Given the description of an element on the screen output the (x, y) to click on. 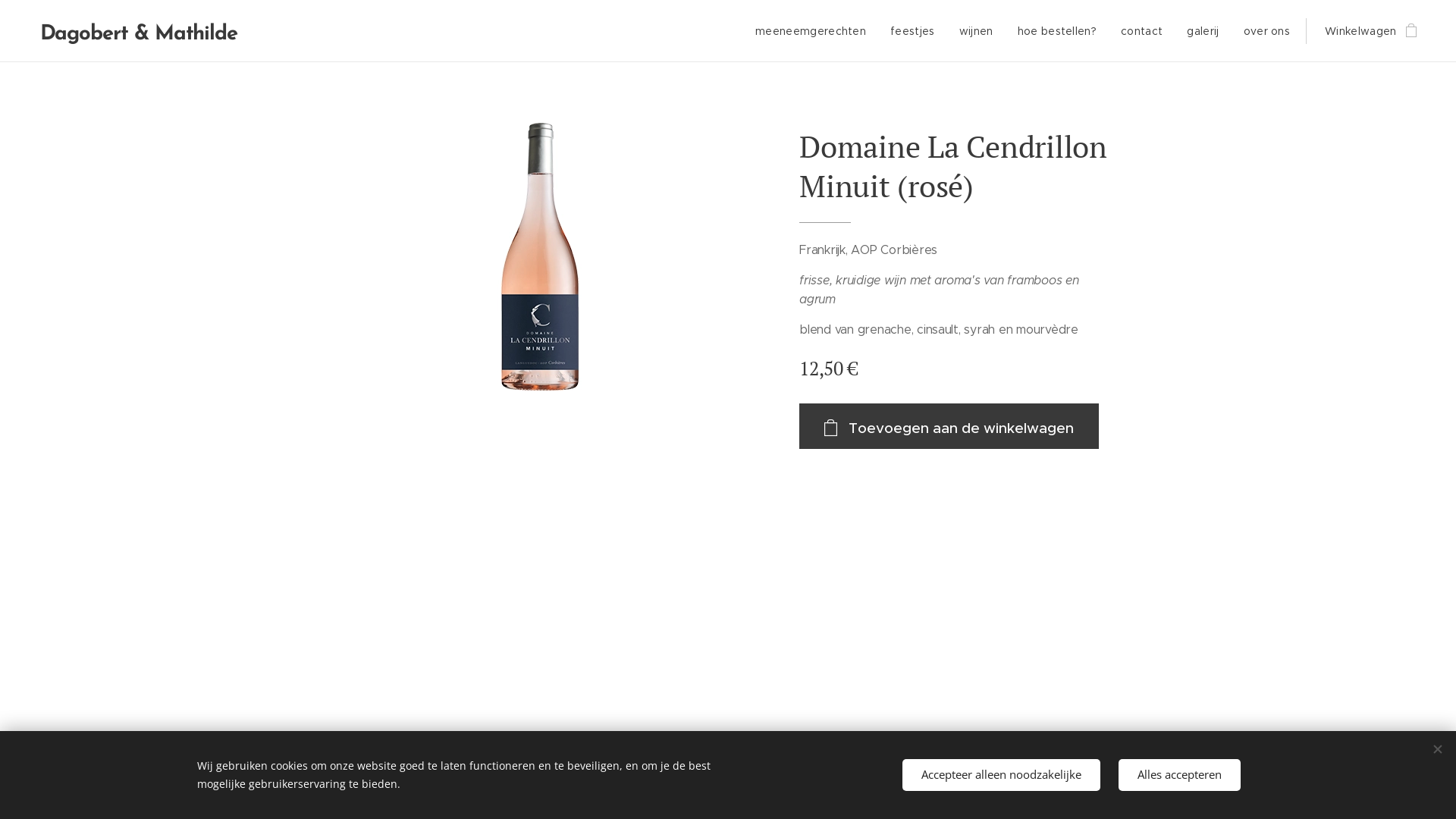
wijnen Element type: text (976, 31)
galerij Element type: text (1202, 31)
Accepteer alleen noodzakelijke Element type: text (1001, 774)
Cookies Element type: text (727, 786)
Winkelwagen Element type: text (1365, 31)
contact Element type: text (1141, 31)
Dagobert & Mathilde   Element type: text (144, 30)
over ons Element type: text (1266, 31)
meeneemgerechten Element type: text (814, 31)
Toevoegen aan de winkelwagen Element type: text (948, 425)
hoe bestellen? Element type: text (1056, 31)
feestjes Element type: text (912, 31)
Alles accepteren Element type: text (1179, 774)
